Given the description of an element on the screen output the (x, y) to click on. 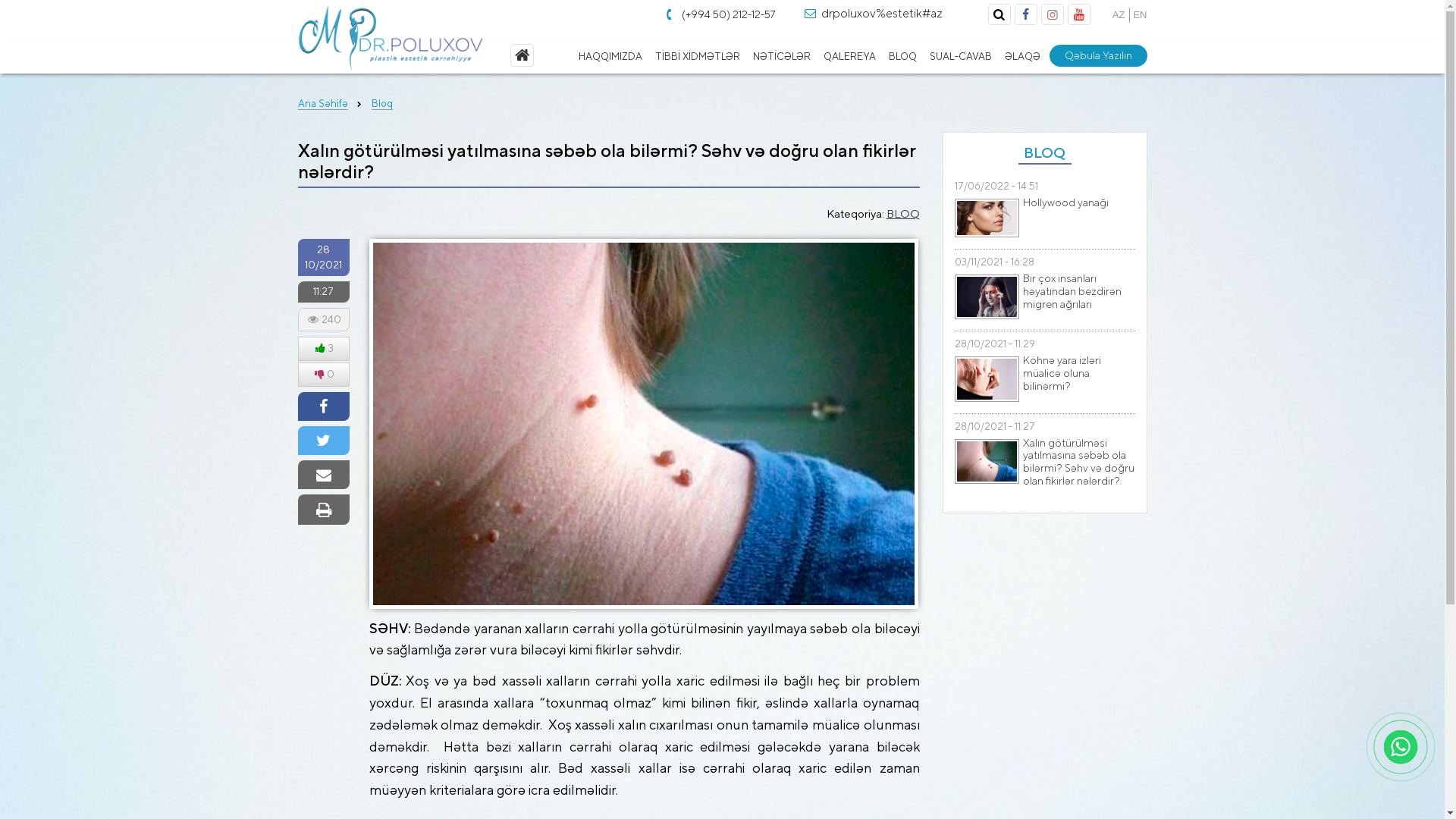
BLOQ Element type: text (901, 56)
AZ Element type: text (1118, 14)
Youtube Element type: hover (1077, 14)
SUAL-CAVAB Element type: text (959, 56)
HAQQIMIZDA Element type: text (610, 56)
Dr.Poluxov Element type: hover (390, 38)
EN Element type: text (1139, 14)
Print Element type: hover (322, 509)
Bloq Element type: text (381, 103)
BLOQ Element type: text (902, 213)
QALEREYA Element type: text (848, 56)
Instagram Element type: hover (1052, 14)
Search Element type: hover (999, 14)
Facebook Element type: hover (1024, 14)
